Given the description of an element on the screen output the (x, y) to click on. 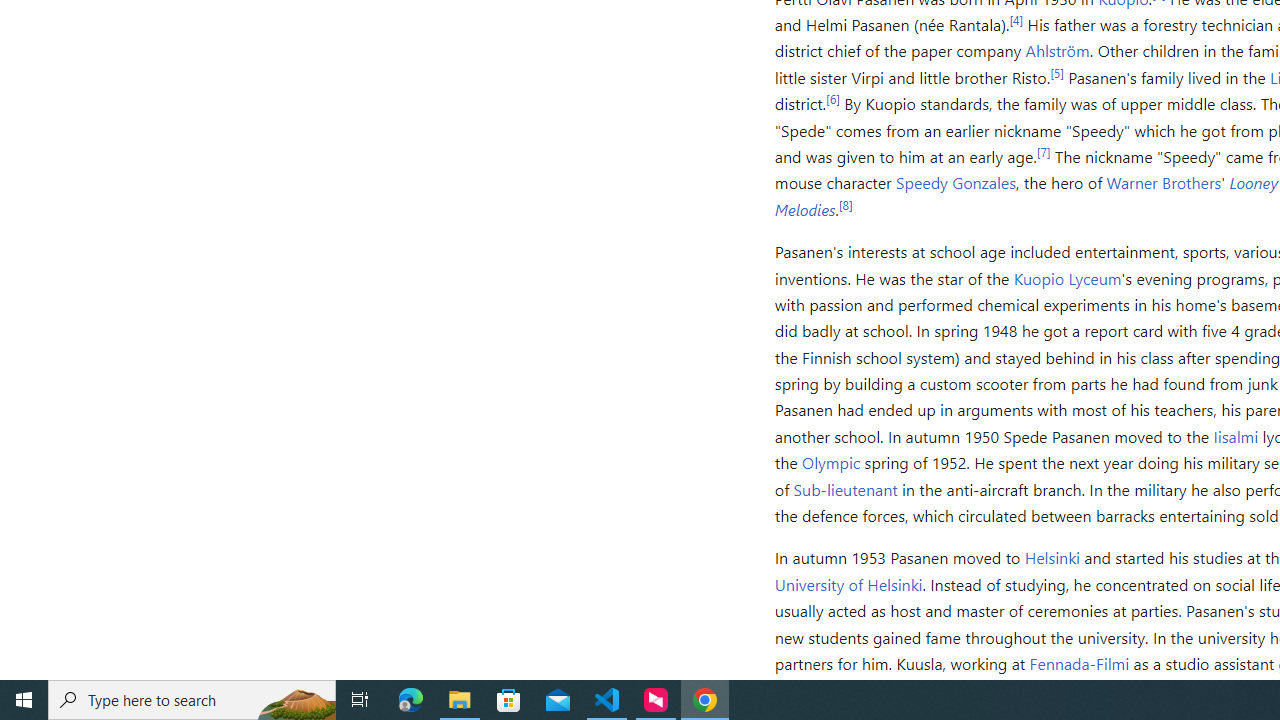
Sub-lieutenant (845, 488)
